Given the description of an element on the screen output the (x, y) to click on. 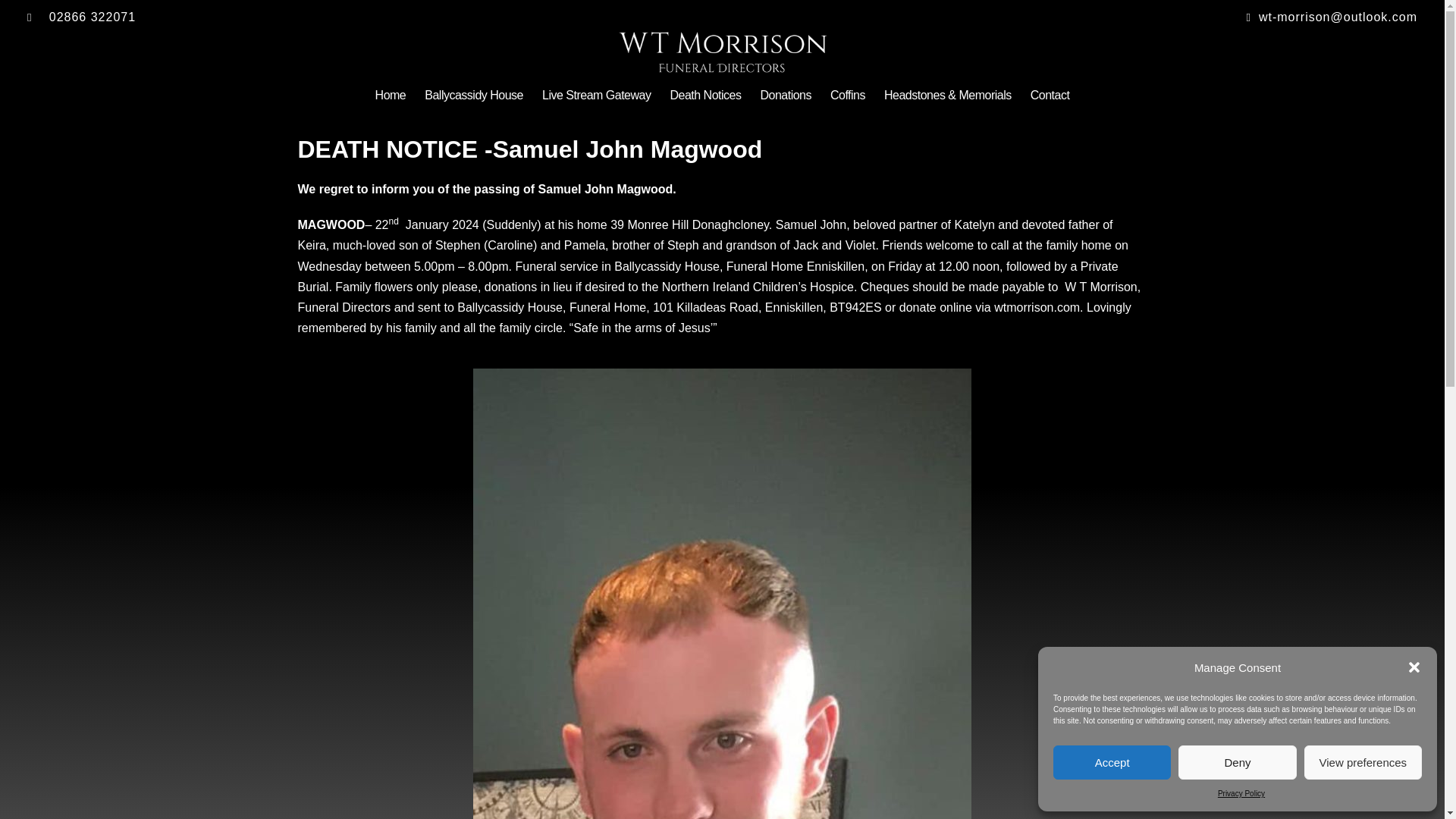
02866 322071 (370, 16)
Donations (785, 94)
Privacy Policy (1241, 793)
Ballycassidy House (473, 94)
Accept (1111, 762)
Deny (1236, 762)
Death Notices (705, 94)
Live Stream Gateway (595, 94)
View preferences (1363, 762)
